Given the description of an element on the screen output the (x, y) to click on. 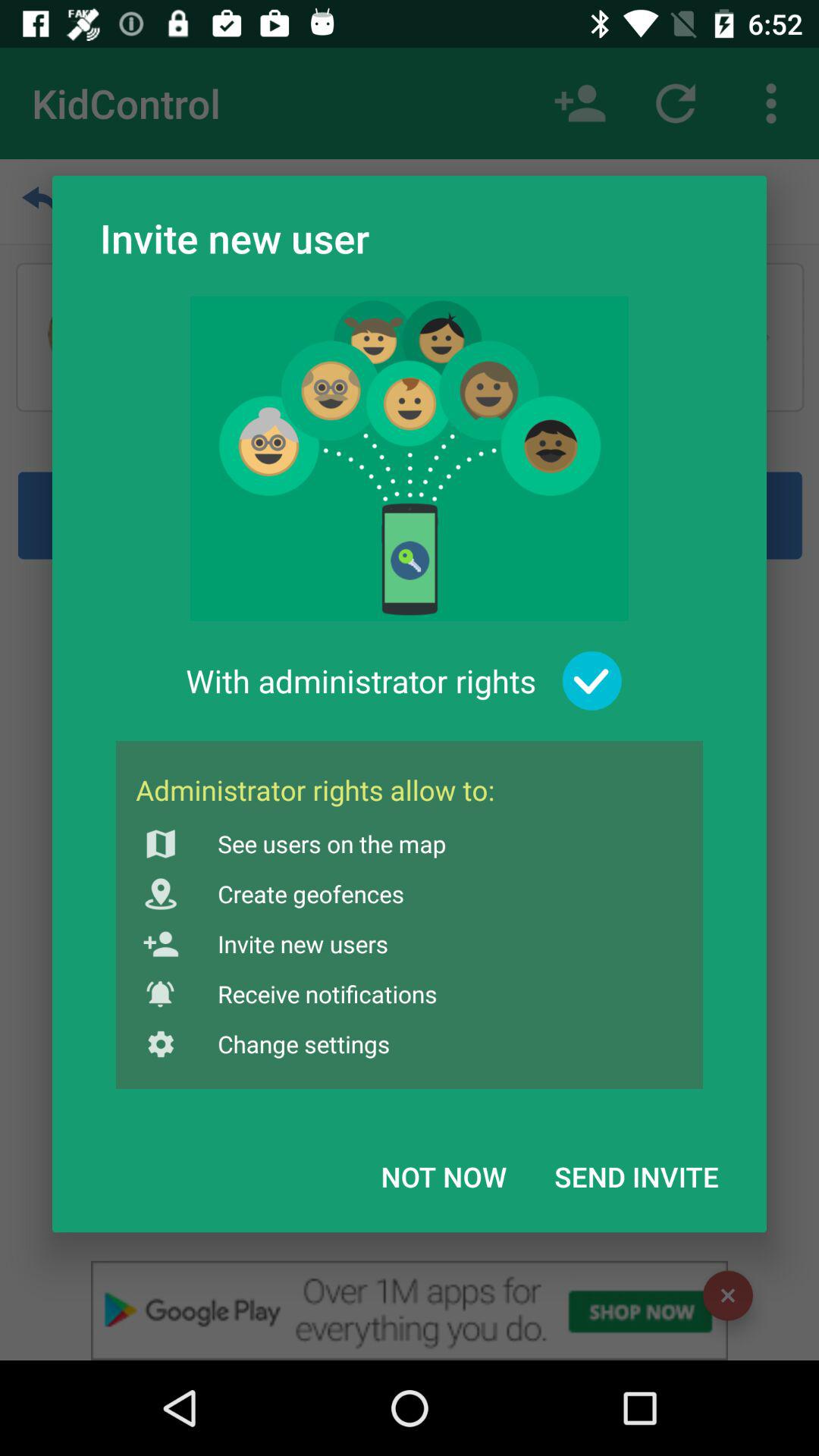
click the item to the right of the with administrator rights item (592, 680)
